Given the description of an element on the screen output the (x, y) to click on. 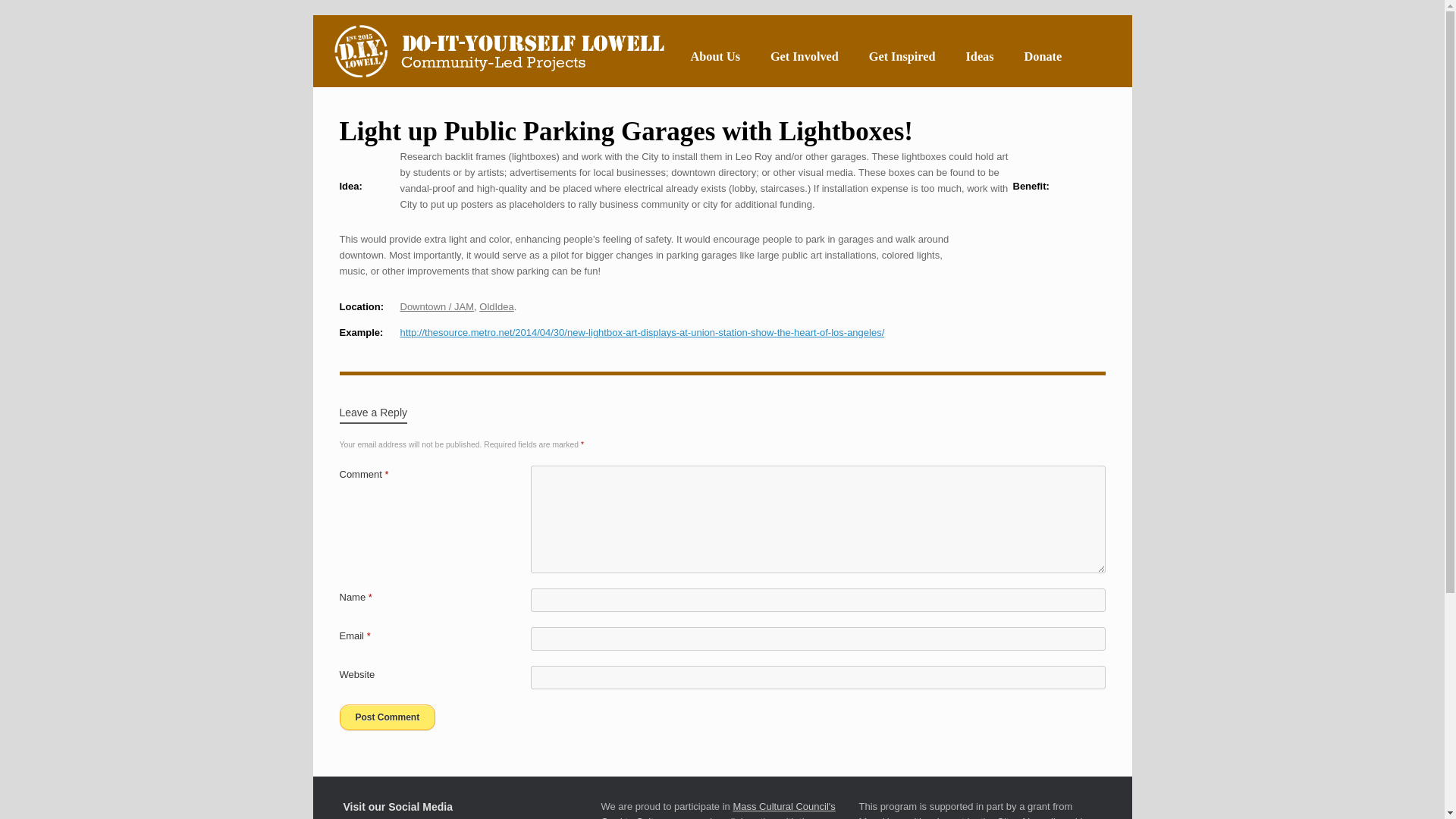
Post Comment (387, 717)
DIY Lowell (497, 50)
About Us (714, 56)
Post Comment (387, 717)
Get Inspired (901, 56)
OldIdea (496, 306)
Donate (1043, 56)
Get Involved (804, 56)
Ideas (979, 56)
